Given the description of an element on the screen output the (x, y) to click on. 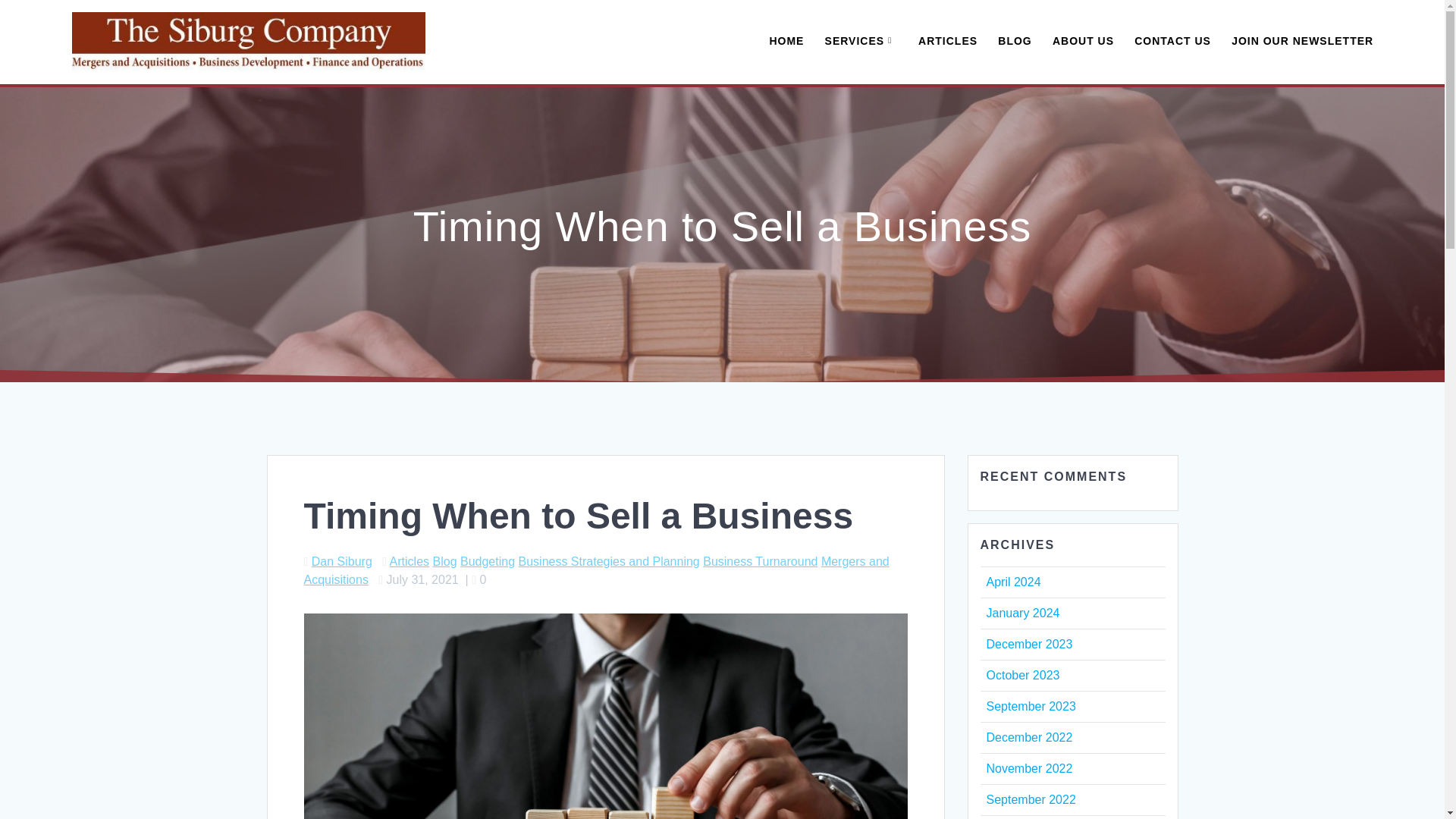
SERVICES (861, 41)
Blog (444, 561)
Mergers and Acquisitions (595, 570)
ABOUT US (1082, 41)
HOME (785, 41)
Business Turnaround (759, 561)
ARTICLES (947, 41)
Budgeting (487, 561)
CONTACT US (1172, 41)
Dan Siburg (341, 561)
